Given the description of an element on the screen output the (x, y) to click on. 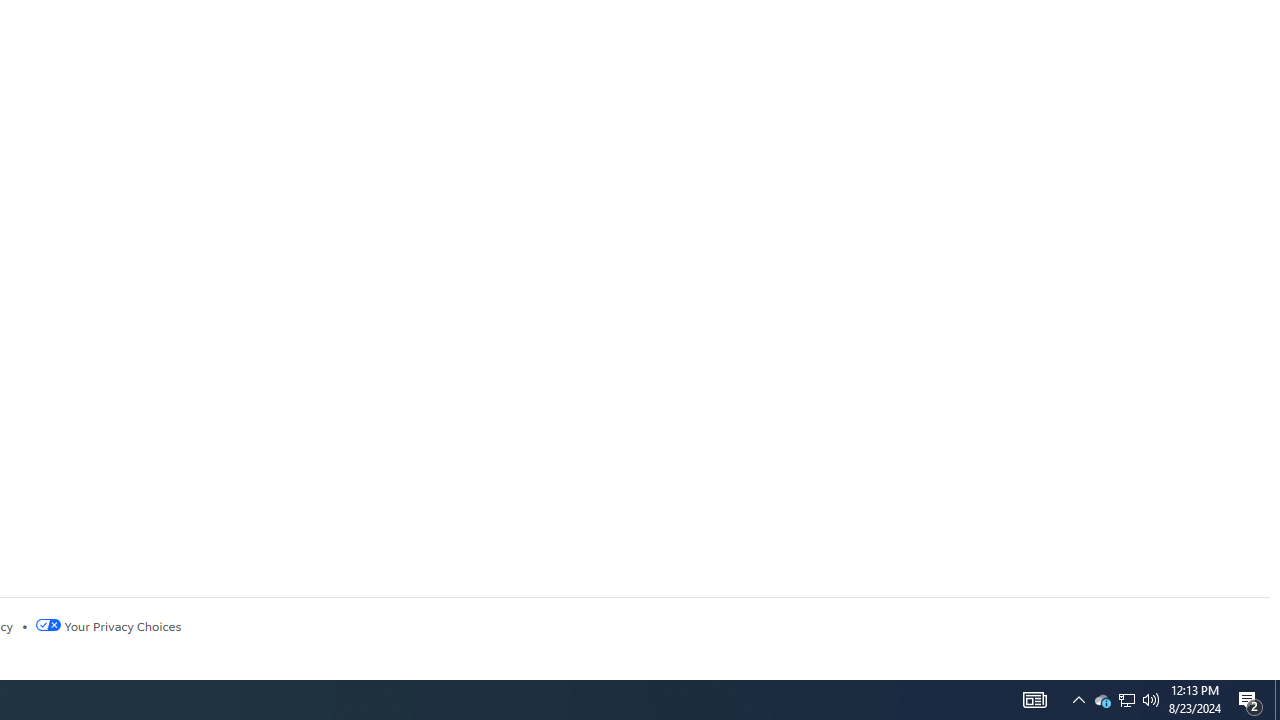
 Your Privacy Choices (108, 626)
